Given the description of an element on the screen output the (x, y) to click on. 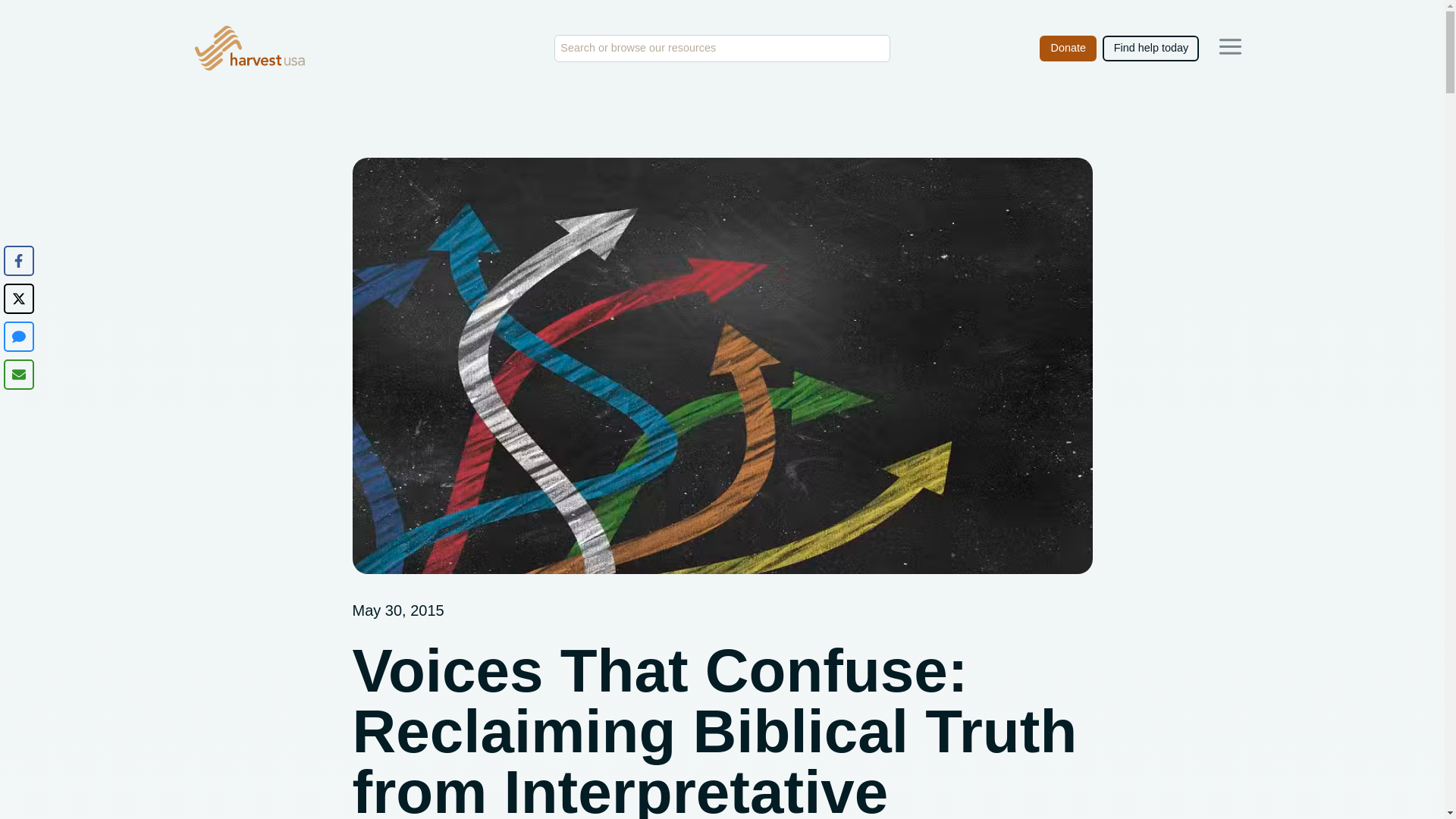
Learn More (1230, 46)
Donate (1067, 49)
Find help today (1150, 49)
